Given the description of an element on the screen output the (x, y) to click on. 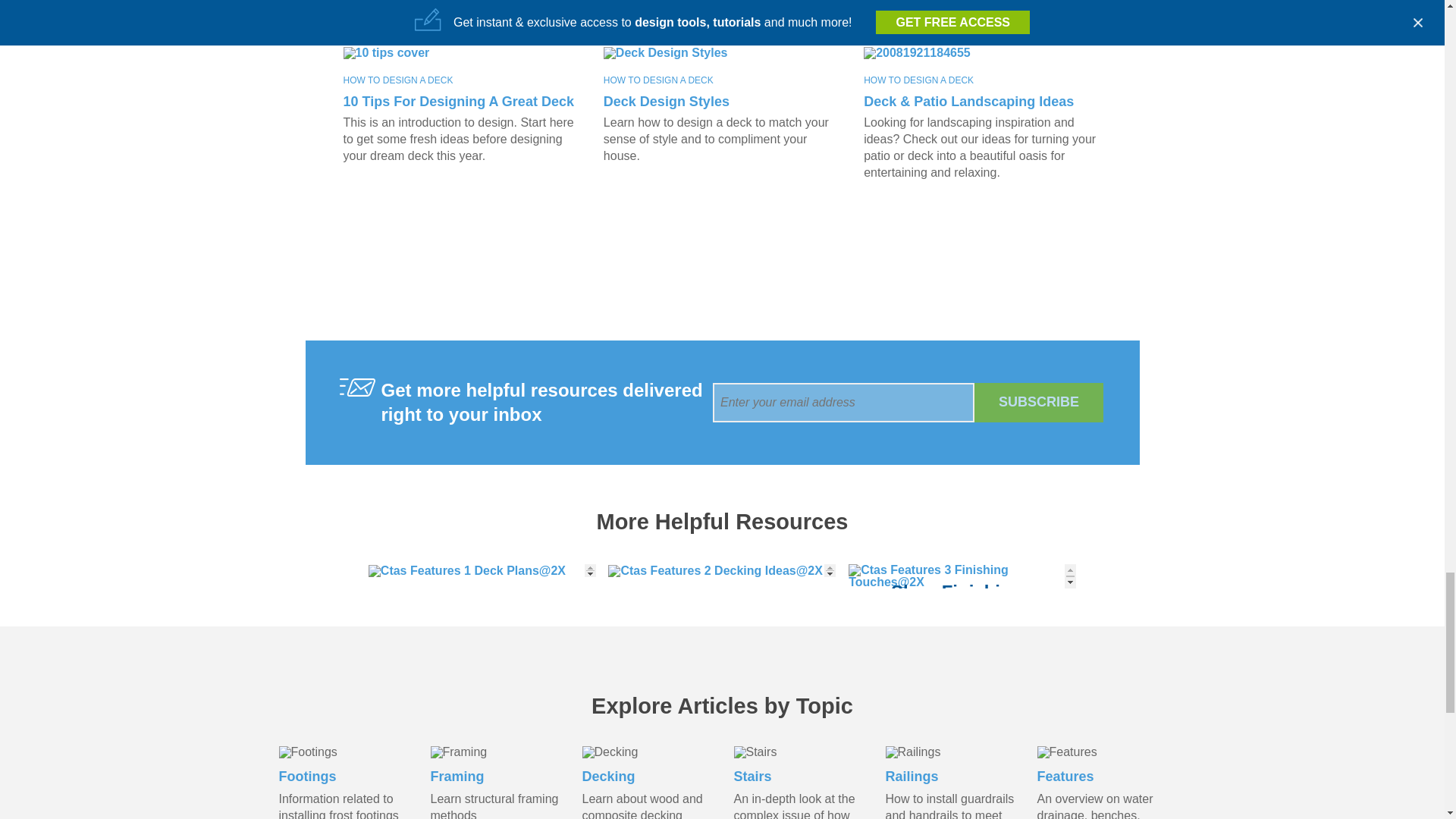
SUBSCRIBE (1038, 401)
